Given the description of an element on the screen output the (x, y) to click on. 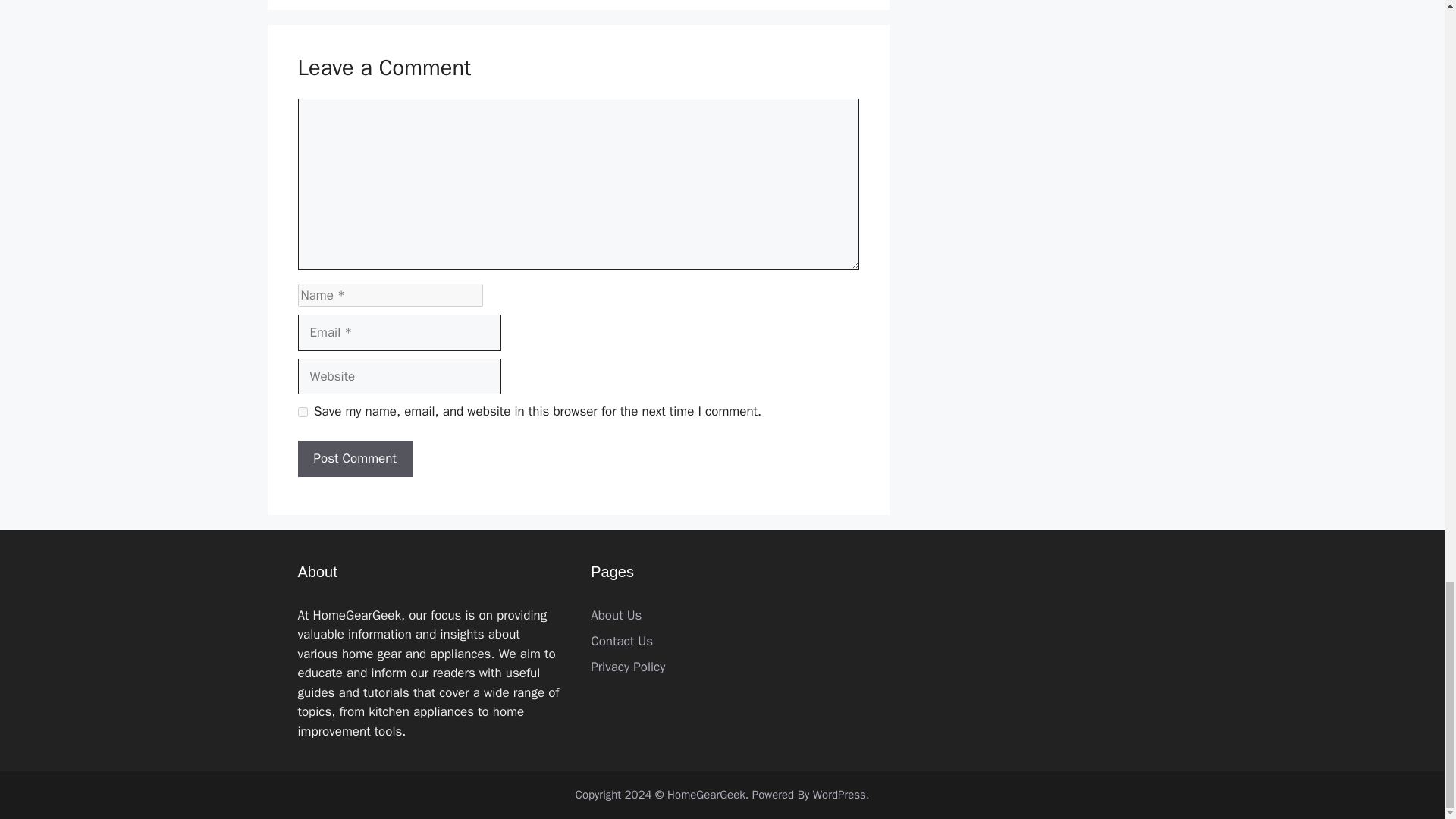
HomeGearGeek (705, 794)
yes (302, 411)
Privacy Policy (628, 666)
Post Comment (354, 458)
Post Comment (354, 458)
WordPress (839, 794)
Contact Us (621, 641)
About Us (616, 615)
